Given the description of an element on the screen output the (x, y) to click on. 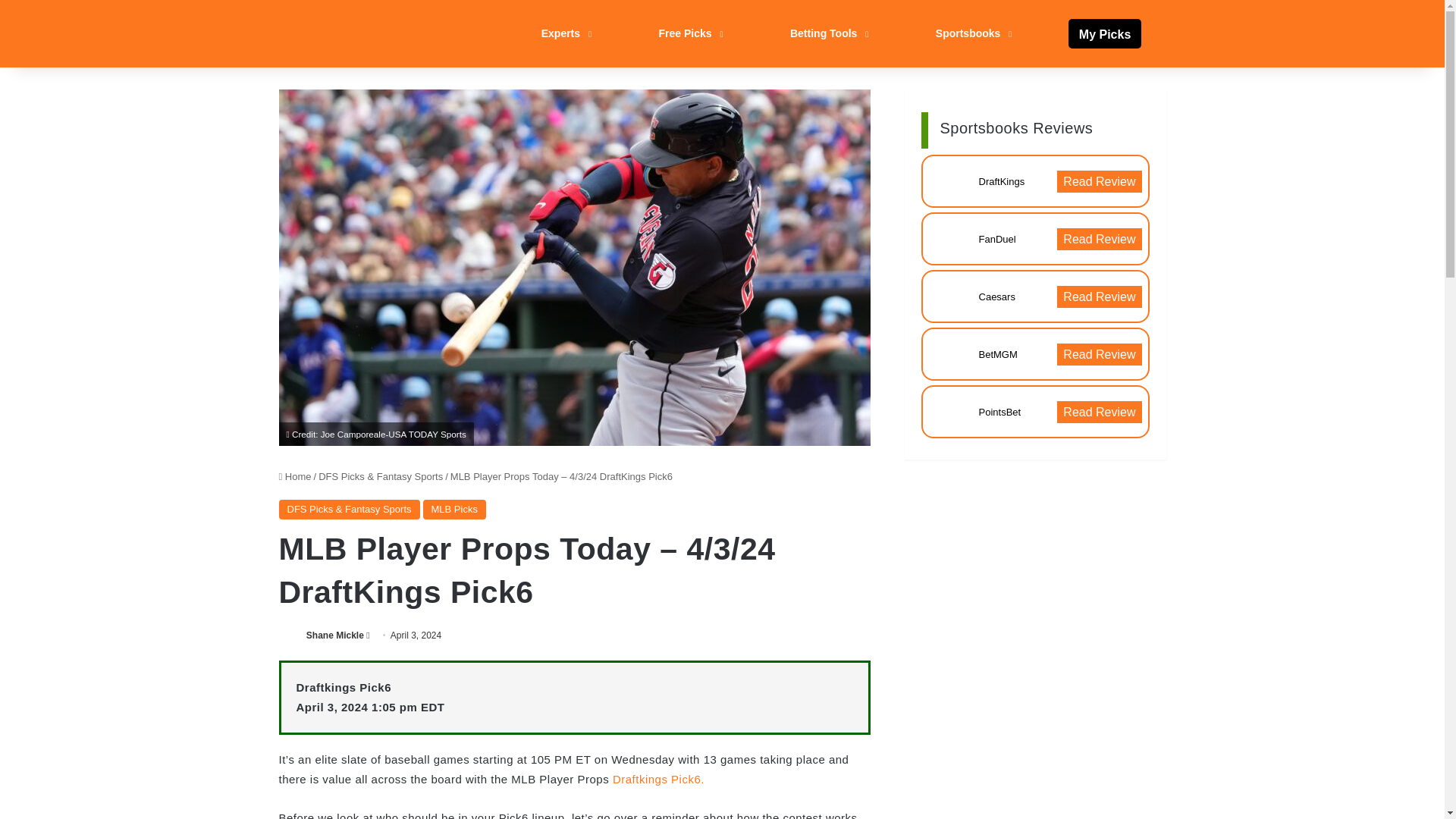
Shane Mickle (334, 634)
Betting Tools (827, 33)
Experts (564, 33)
Free Picks (688, 33)
